Given the description of an element on the screen output the (x, y) to click on. 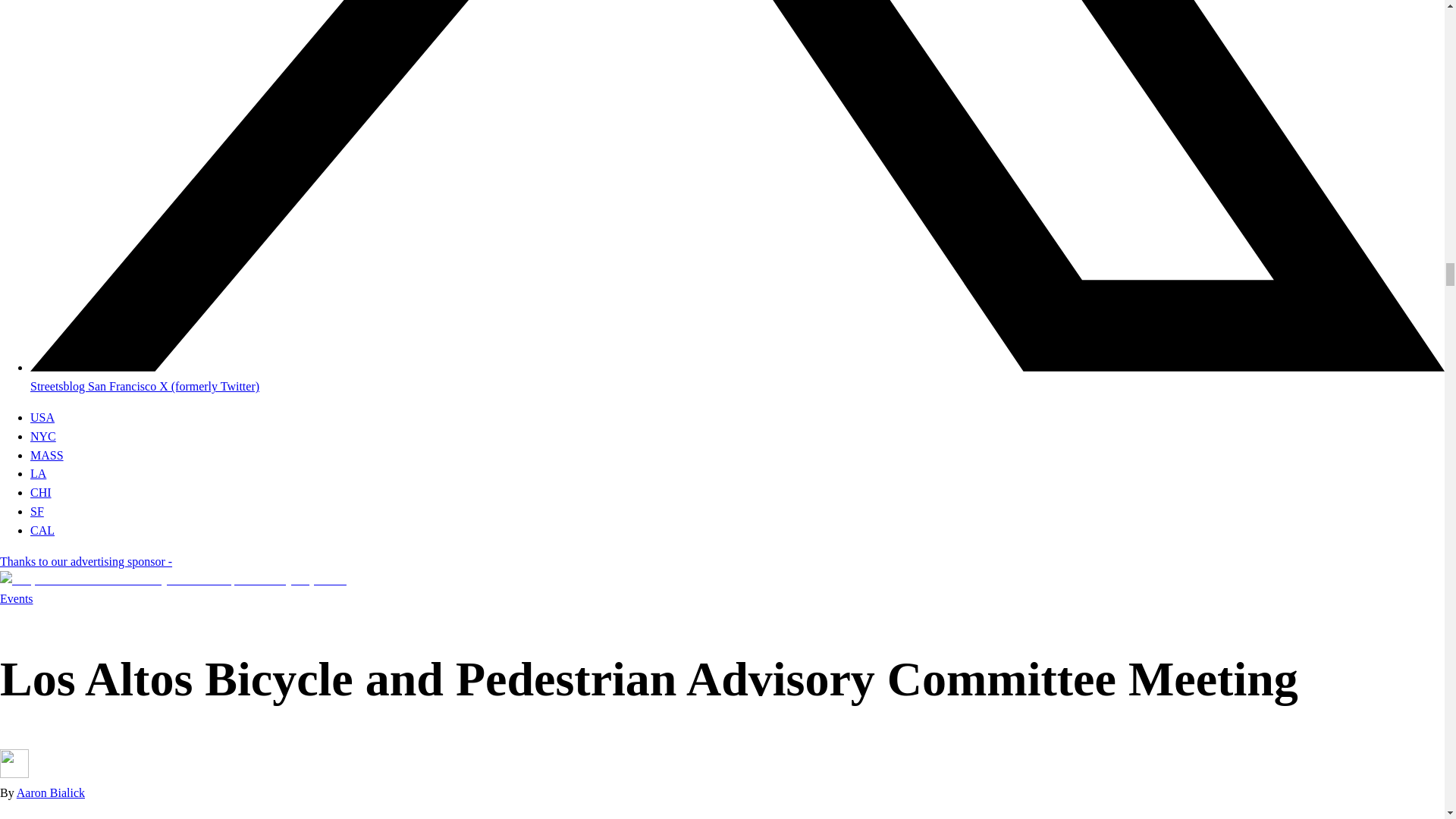
USA (42, 417)
LA (38, 472)
CHI (40, 492)
NYC (43, 436)
MASS (47, 454)
CAL (42, 530)
Aaron Bialick (50, 792)
SF (36, 511)
Events (16, 598)
